Given the description of an element on the screen output the (x, y) to click on. 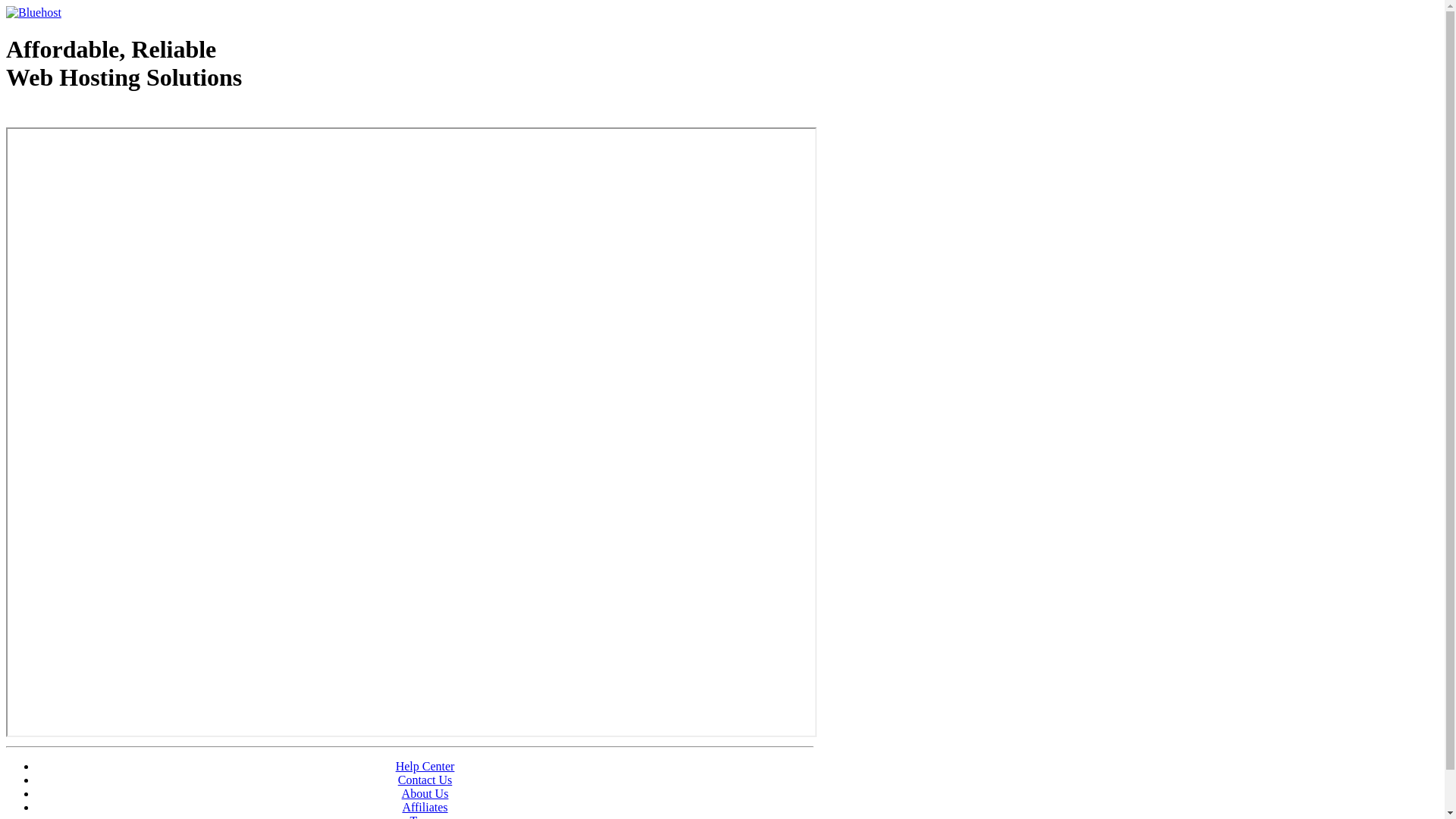
Affiliates Element type: text (424, 806)
About Us Element type: text (424, 793)
Help Center Element type: text (425, 765)
Contact Us Element type: text (425, 779)
Web Hosting - courtesy of www.bluehost.com Element type: text (94, 115)
